Given the description of an element on the screen output the (x, y) to click on. 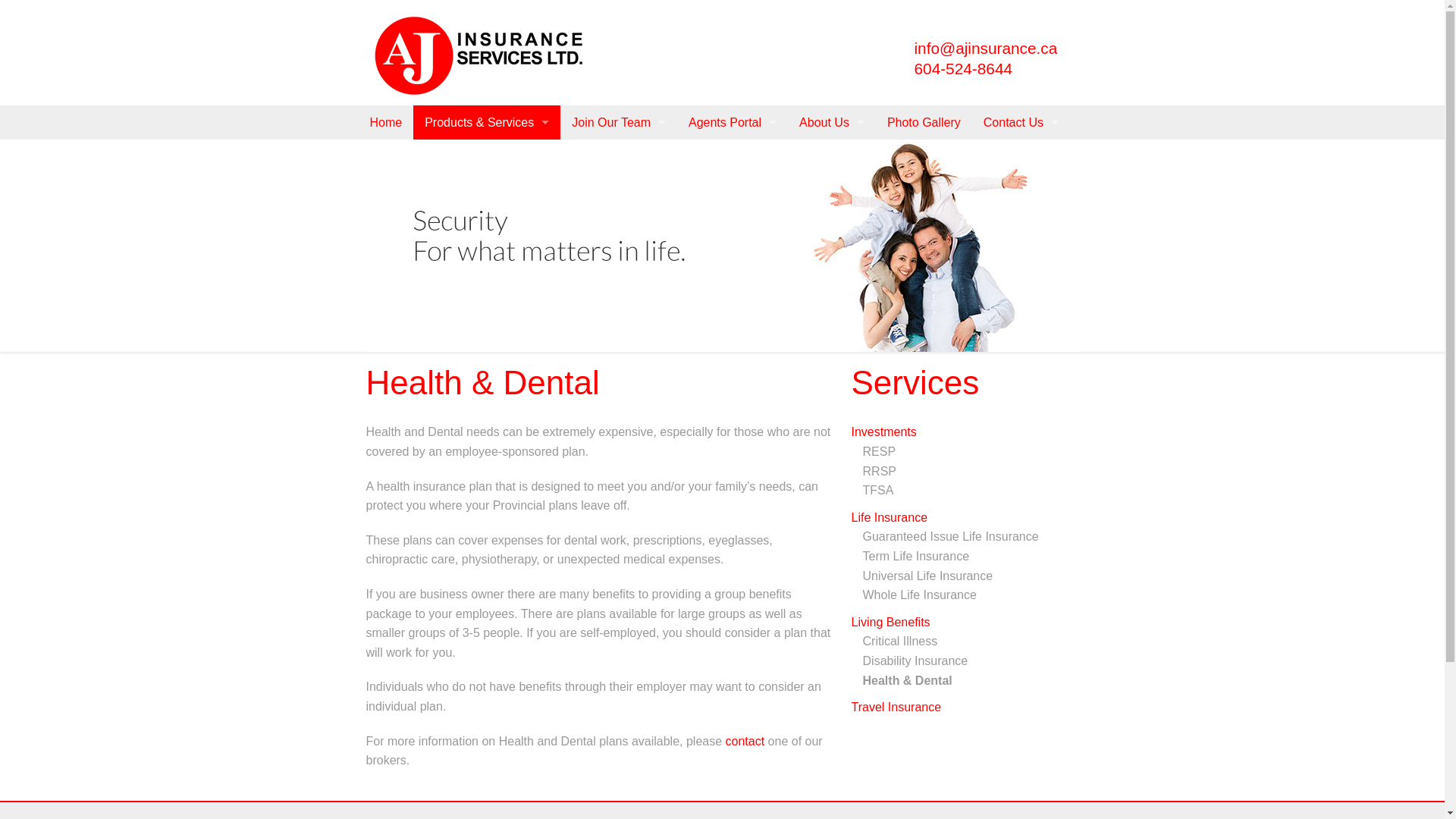
Disability Insurance Element type: text (970, 661)
Travel Insurance Element type: text (965, 707)
Health & Dental Element type: text (970, 680)
Agents Portal Element type: text (732, 122)
contact Element type: text (745, 740)
Universal Life Insurance Element type: text (970, 576)
Term Life Insurance Element type: text (970, 556)
Critical Illness Element type: text (970, 641)
Life Insurance Element type: text (965, 517)
Contact Us Element type: text (1021, 122)
Join Our Team Element type: text (618, 122)
Photo Gallery Element type: text (923, 122)
Investments Element type: text (965, 432)
Living Benefits Element type: text (965, 622)
604-524-8644 Element type: text (963, 68)
RESP Element type: text (970, 451)
RRSP Element type: text (970, 471)
Home Element type: text (385, 122)
Guaranteed Issue Life Insurance Element type: text (970, 536)
About Us Element type: text (831, 122)
Products & Services Element type: text (486, 122)
TFSA Element type: text (970, 490)
info@ajinsurance.ca Element type: text (985, 47)
Whole Life Insurance Element type: text (970, 595)
